Given the description of an element on the screen output the (x, y) to click on. 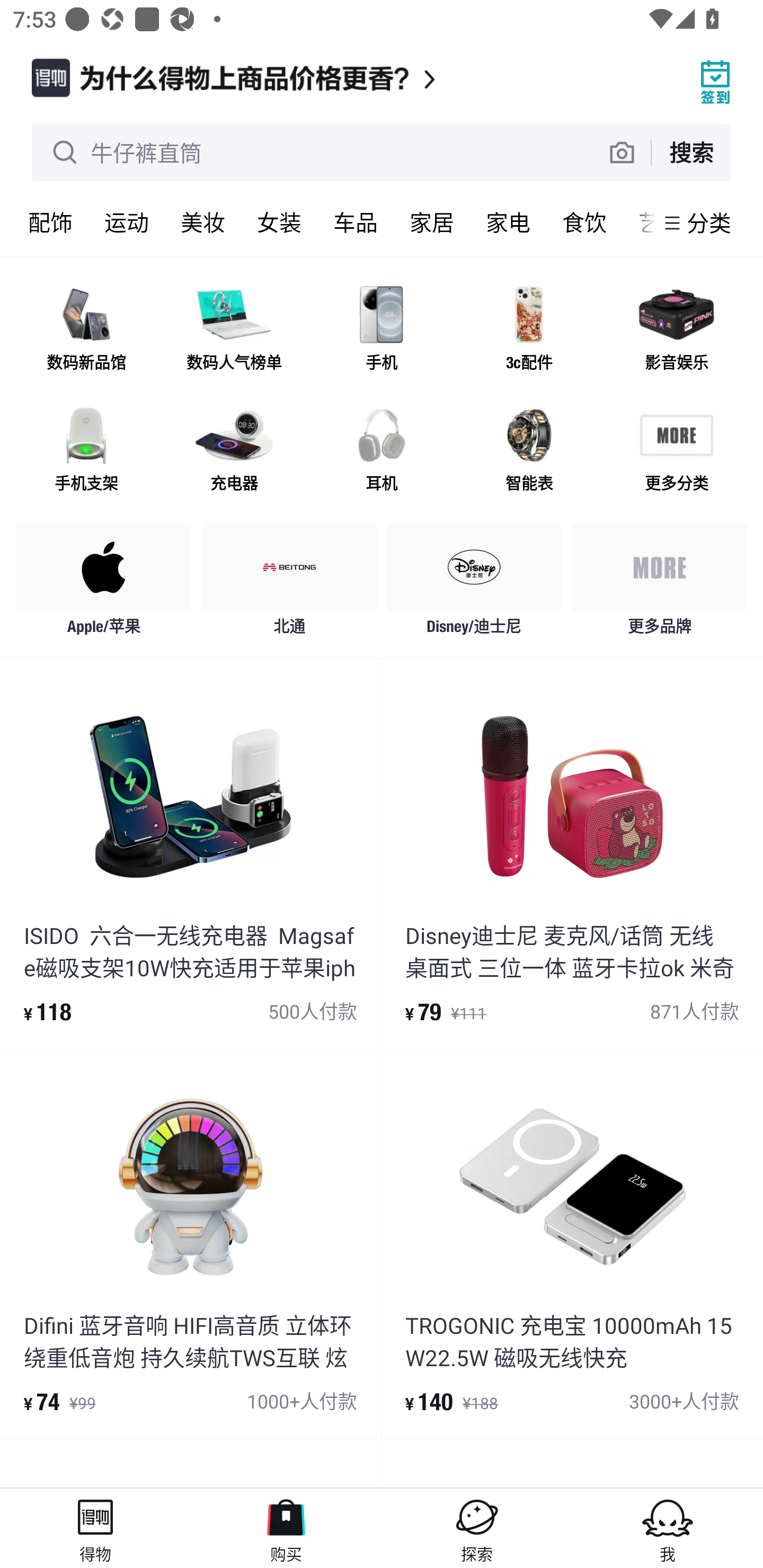
搜索 (690, 152)
配饰 (50, 222)
运动 (126, 222)
美妆 (202, 222)
女装 (279, 222)
车品 (355, 222)
家居 (431, 222)
家电 (508, 222)
食饮 (584, 222)
分类 (708, 222)
数码新品馆 (86, 329)
数码人气榜单 (233, 329)
手机 (381, 329)
3c配件 (528, 329)
影音娱乐 (676, 329)
手机支架 (86, 450)
充电器 (233, 450)
耳机 (381, 450)
智能表 (528, 450)
更多分类 (676, 450)
Apple/苹果 (103, 583)
北通 (288, 583)
Disney/迪士尼 (473, 583)
更多品牌 (658, 583)
得物 (95, 1528)
购买 (285, 1528)
探索 (476, 1528)
我 (667, 1528)
